Given the description of an element on the screen output the (x, y) to click on. 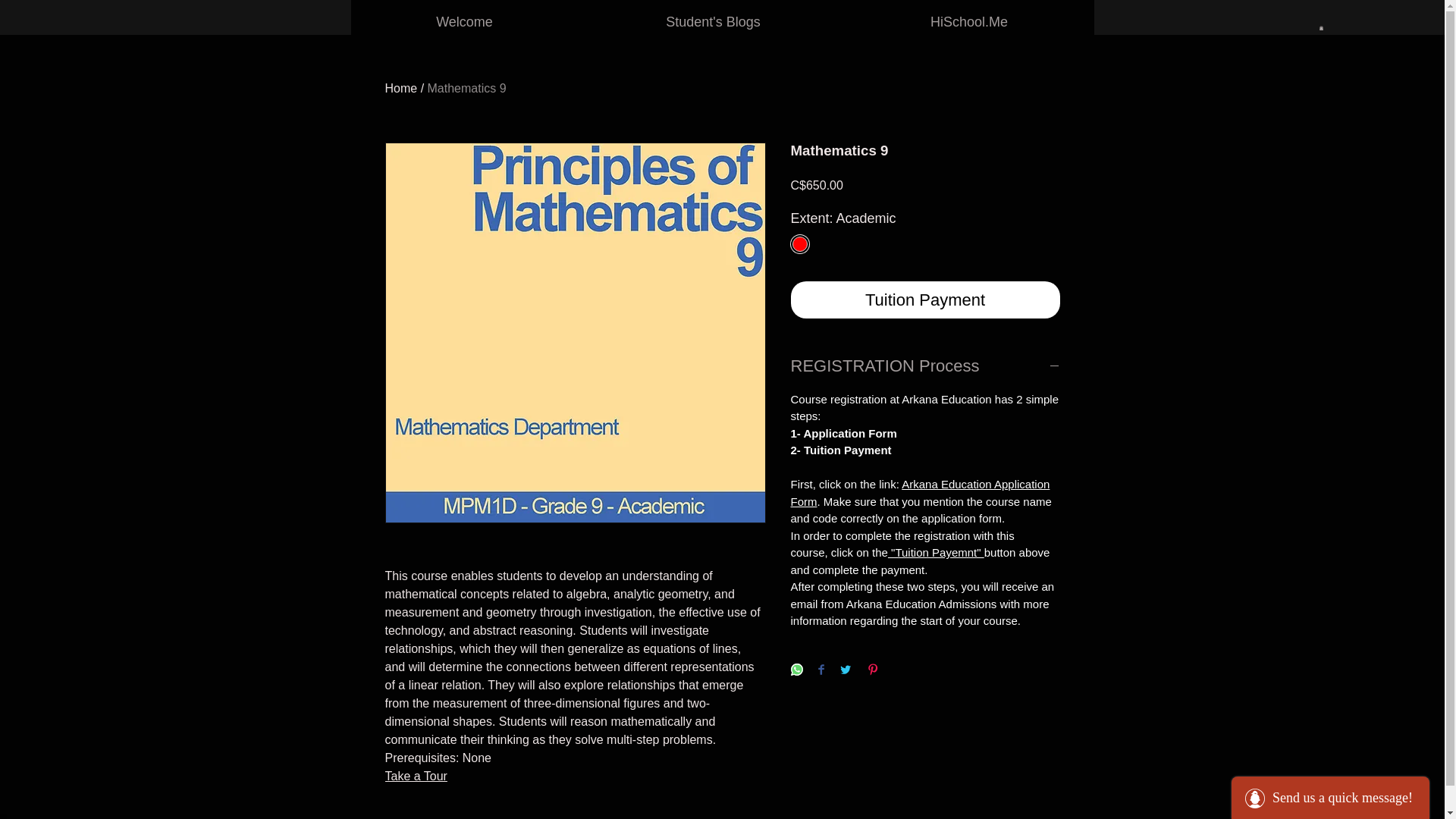
Student's Blogs (713, 22)
Take a Tour (415, 775)
Welcome (464, 22)
Tuition Payment (924, 299)
Home (401, 88)
HiSchool.Me (969, 22)
Mathematics 9 (467, 88)
REGISTRATION Process (924, 366)
Arkana Education Application Form (919, 492)
